Given the description of an element on the screen output the (x, y) to click on. 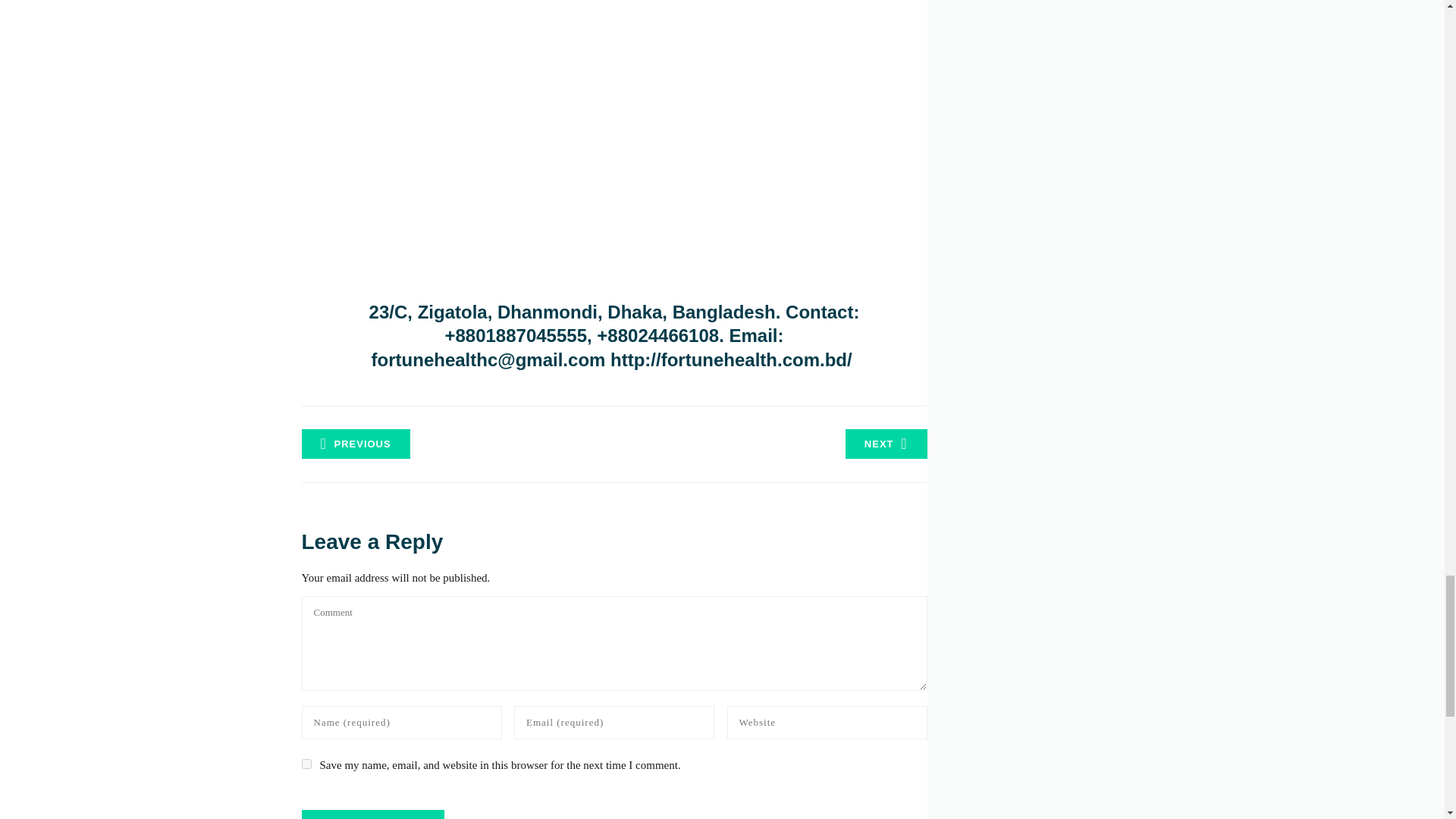
Good Reasons to Break the Fast-Food Habit (886, 443)
The Benifits of Middle Age Fitness (355, 443)
yes (306, 764)
Post Comment (372, 814)
